Given the description of an element on the screen output the (x, y) to click on. 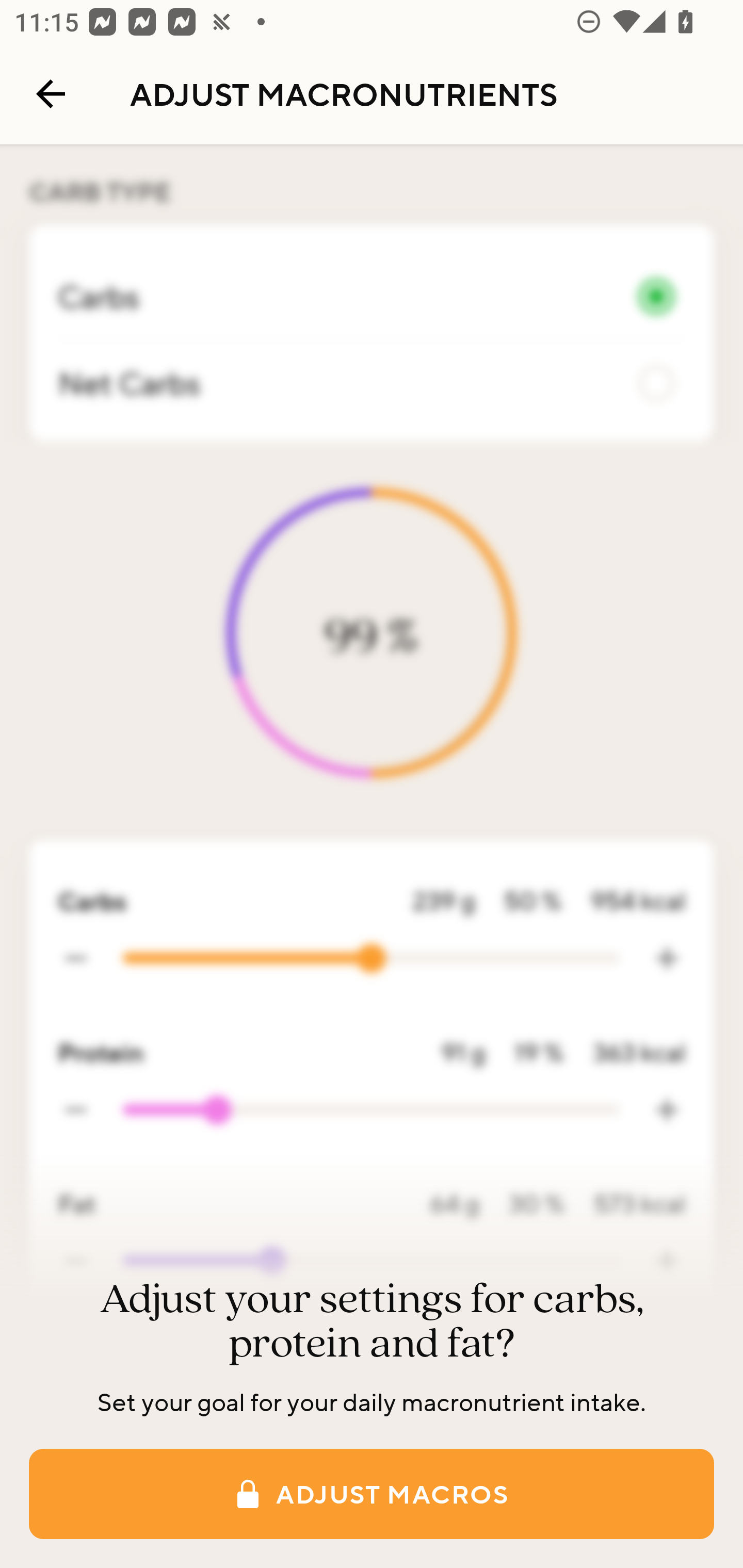
Navigate up (50, 93)
ADJUST MACROS (371, 1493)
